Given the description of an element on the screen output the (x, y) to click on. 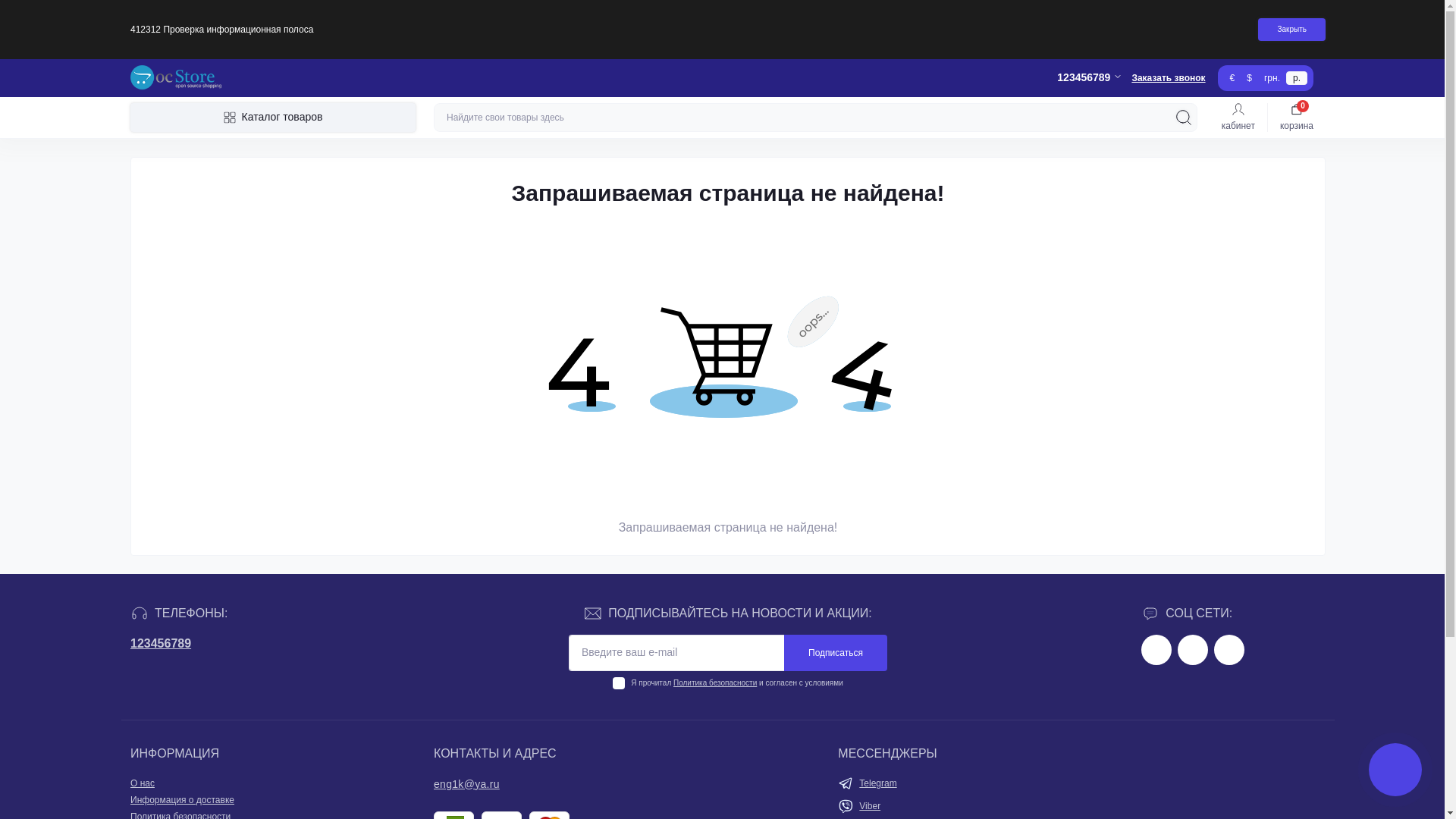
123456789 Element type: text (160, 642)
Telegram Element type: text (877, 783)
eng1k@ya.ru Element type: text (466, 784)
Viber Element type: text (869, 805)
$ Element type: text (1249, 77)
